Given the description of an element on the screen output the (x, y) to click on. 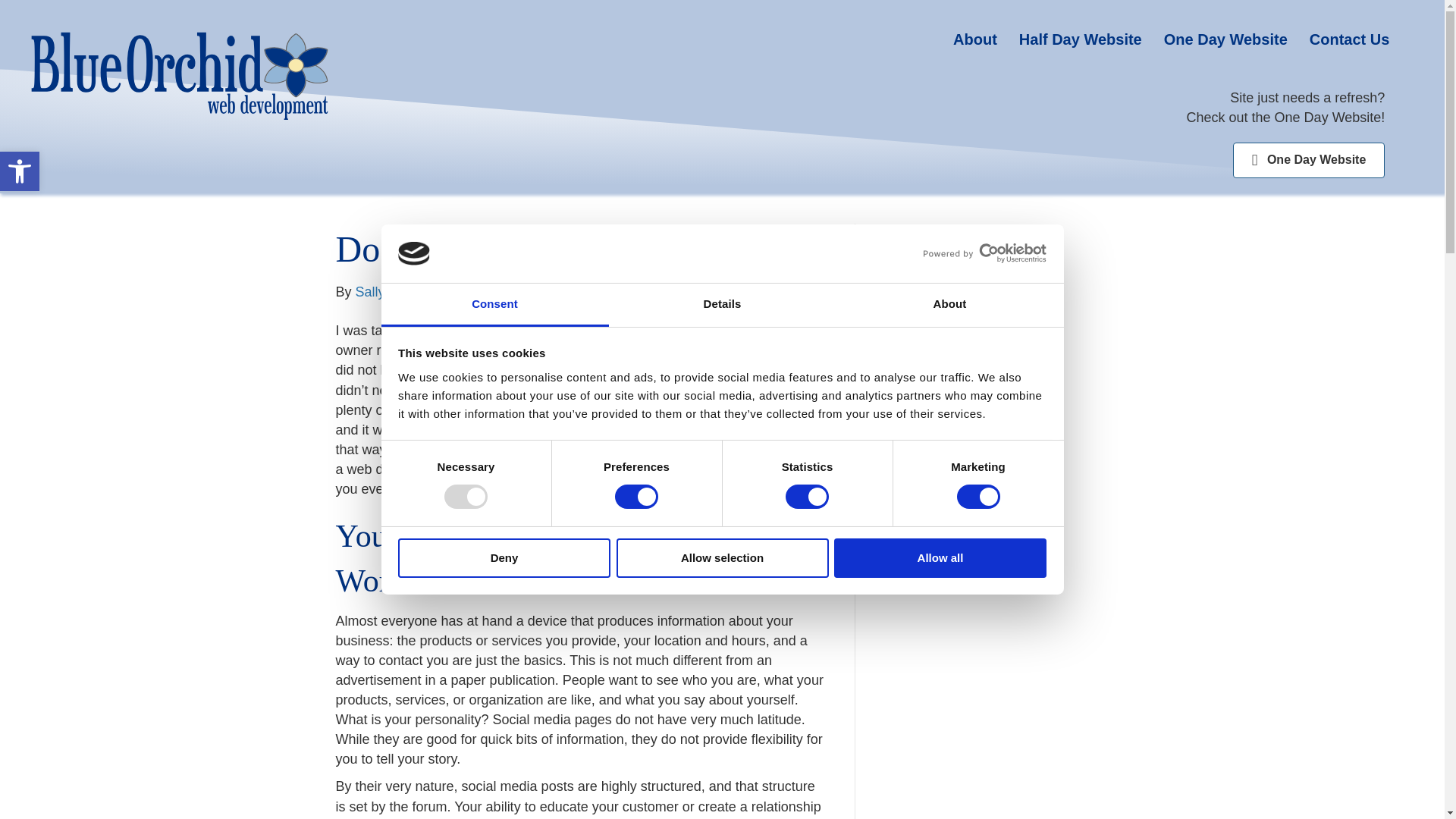
Accessibility Tools (19, 170)
Deny (503, 558)
About (948, 304)
Accessibility Tools (19, 170)
Details (721, 304)
Consent (494, 304)
